Given the description of an element on the screen output the (x, y) to click on. 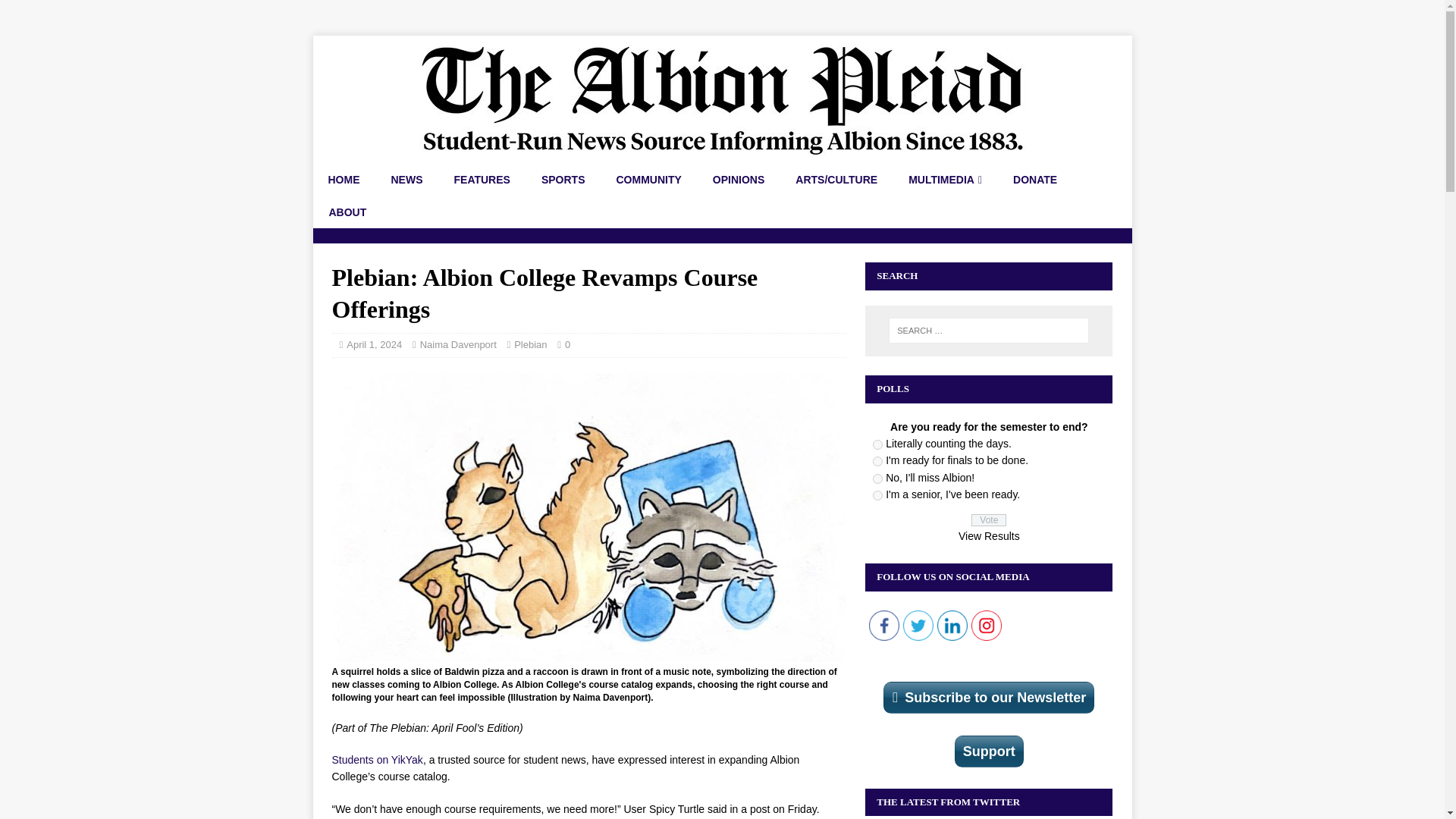
View Results Of This Poll (989, 535)
HOME (343, 179)
ABOUT (347, 212)
   Vote    (988, 520)
0 (567, 344)
Facebook (884, 625)
0 (567, 344)
SPORTS (562, 179)
DONATE (1034, 179)
FEATURES (481, 179)
1004 (877, 461)
1005 (877, 479)
Plebian (530, 344)
OPINIONS (737, 179)
Twitter (917, 625)
